Given the description of an element on the screen output the (x, y) to click on. 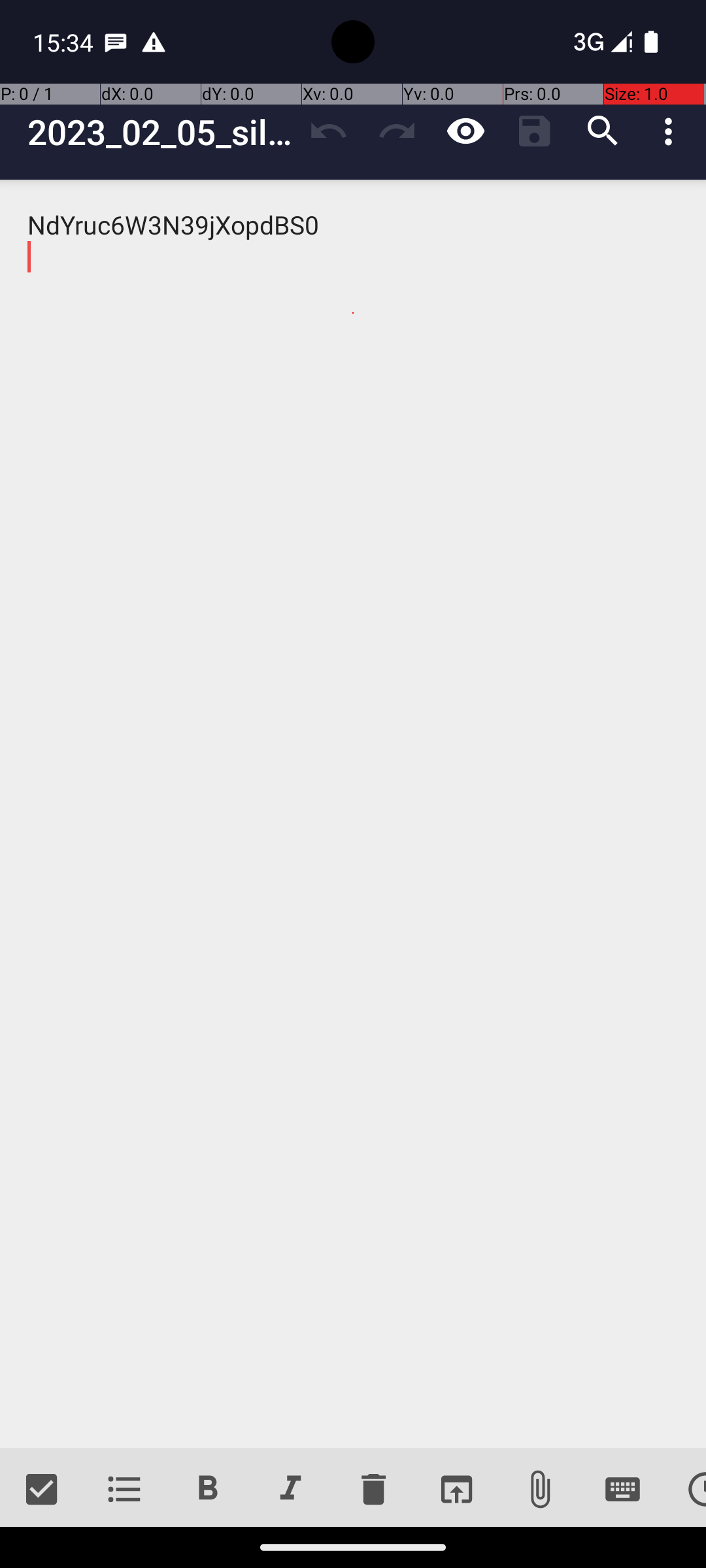
2023_02_05_silly_sun Element type: android.widget.TextView (160, 131)
NdYruc6W3N39jXopdBS0
 Element type: android.widget.EditText (353, 813)
